Given the description of an element on the screen output the (x, y) to click on. 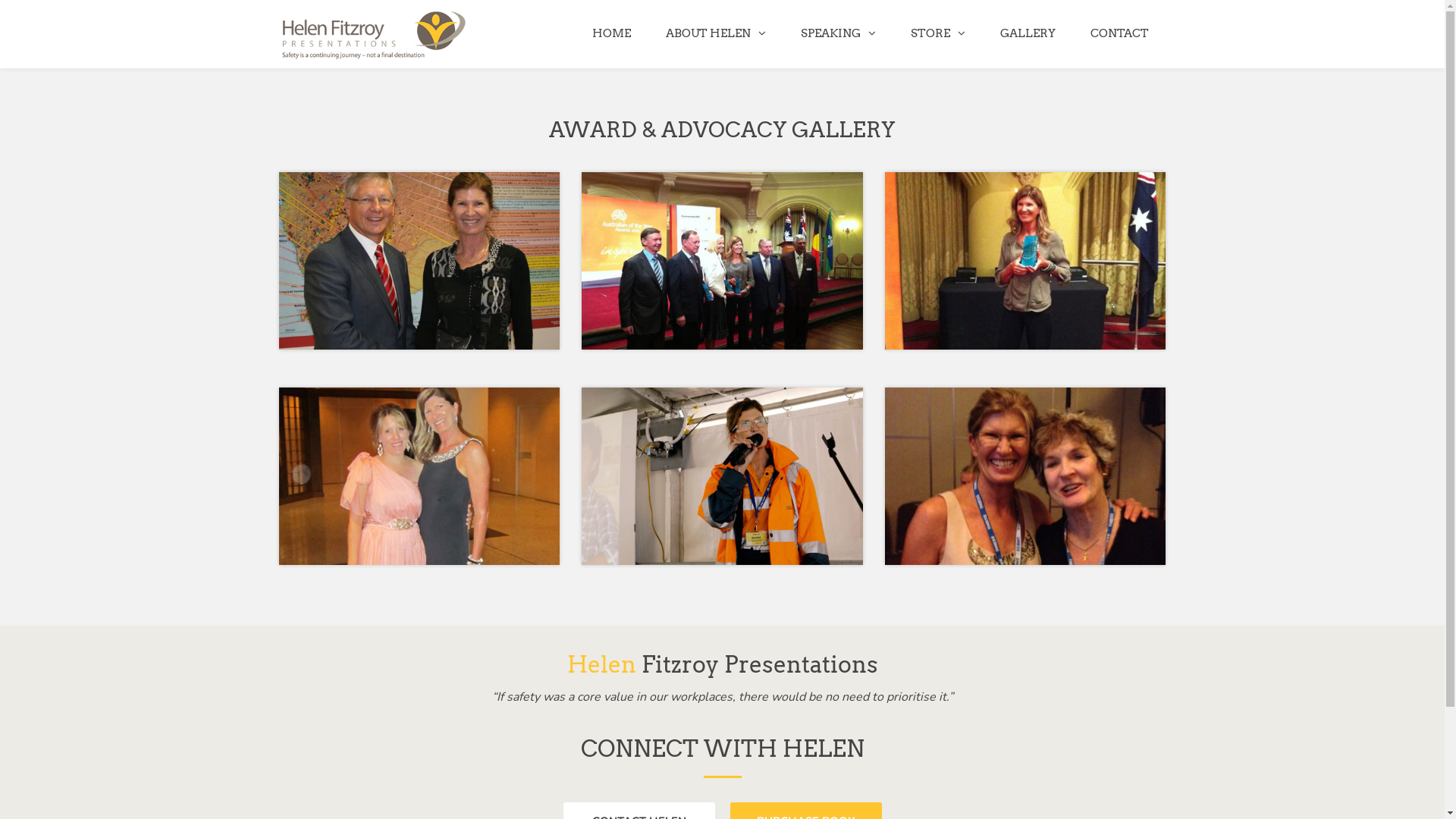
Helen-Fitzroy-Awards4 Element type: hover (1024, 475)
GALLERY Element type: text (1027, 33)
Helen-Fitzroy-Awards2 Element type: hover (419, 260)
SPEAKING Element type: text (837, 33)
Helen-Keynote-Speaking Element type: hover (721, 475)
CONTACT Element type: text (1118, 33)
Helen-Fitzroy-Awards3 Element type: hover (1024, 260)
Helen-Fitzroy-Awards5 Element type: hover (419, 475)
ABOUT HELEN Element type: text (714, 33)
Helen-Fitzroy-Awards Element type: hover (721, 260)
HOME Element type: text (611, 33)
International Keynote Speaker and Safety Advocate Element type: hover (373, 34)
STORE Element type: text (937, 33)
